Given the description of an element on the screen output the (x, y) to click on. 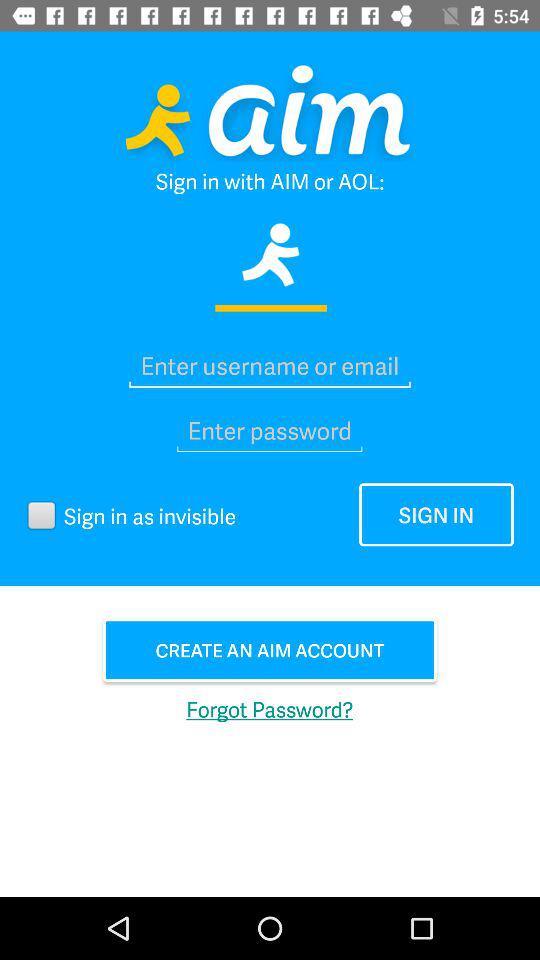
click icon above forgot password? (269, 649)
